Given the description of an element on the screen output the (x, y) to click on. 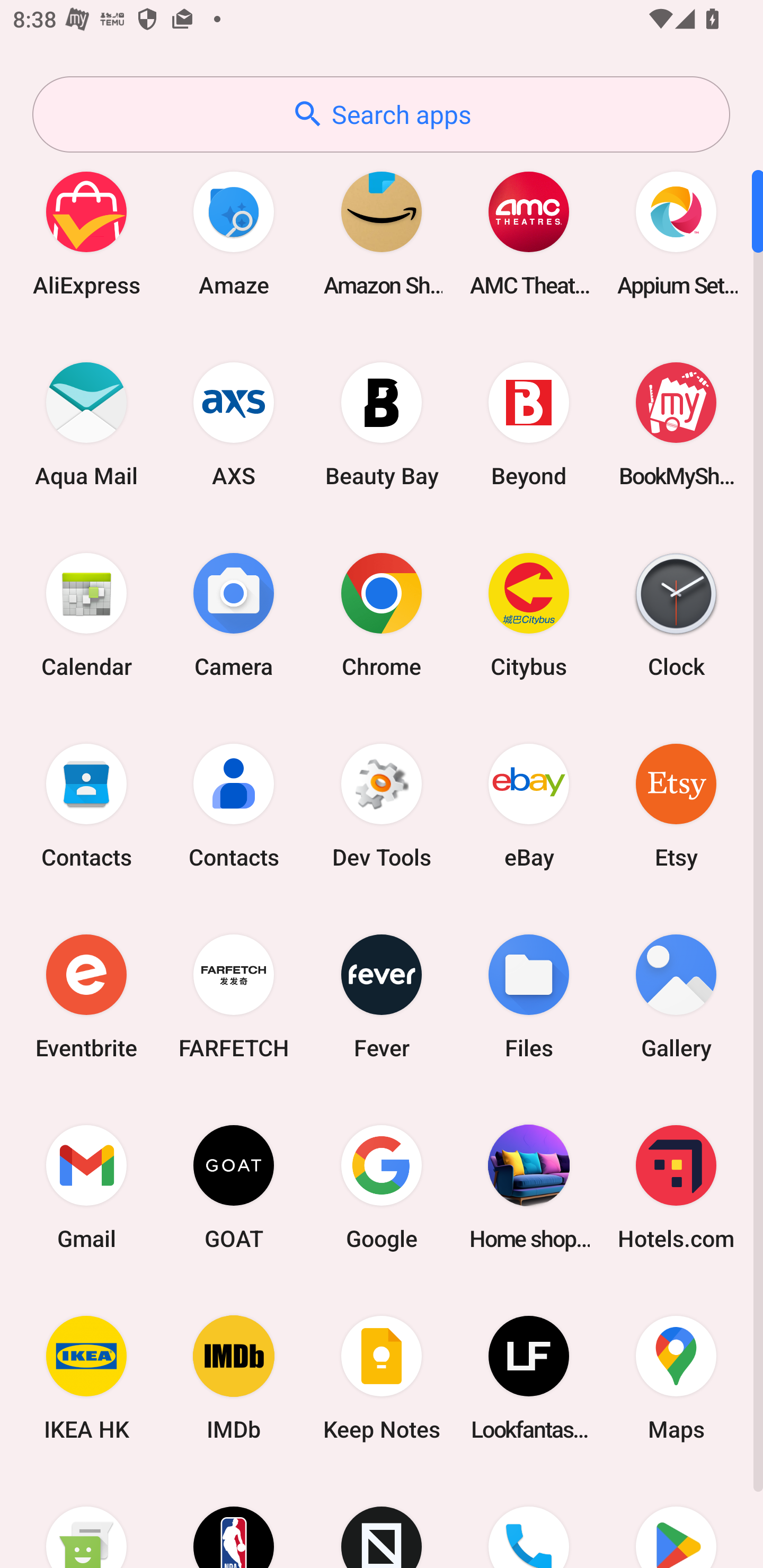
  Search apps (381, 114)
AliExpress (86, 233)
Amaze (233, 233)
Amazon Shopping (381, 233)
AMC Theatres (528, 233)
Appium Settings (676, 233)
Aqua Mail (86, 424)
AXS (233, 424)
Beauty Bay (381, 424)
Beyond (528, 424)
BookMyShow (676, 424)
Calendar (86, 614)
Camera (233, 614)
Chrome (381, 614)
Citybus (528, 614)
Clock (676, 614)
Contacts (86, 805)
Contacts (233, 805)
Dev Tools (381, 805)
eBay (528, 805)
Etsy (676, 805)
Eventbrite (86, 996)
FARFETCH (233, 996)
Fever (381, 996)
Files (528, 996)
Gallery (676, 996)
Gmail (86, 1186)
GOAT (233, 1186)
Google (381, 1186)
Home shopping (528, 1186)
Hotels.com (676, 1186)
IKEA HK (86, 1377)
IMDb (233, 1377)
Keep Notes (381, 1377)
Lookfantastic (528, 1377)
Maps (676, 1377)
Messaging (86, 1520)
NBA (233, 1520)
Novelship (381, 1520)
Phone (528, 1520)
Play Store (676, 1520)
